Given the description of an element on the screen output the (x, y) to click on. 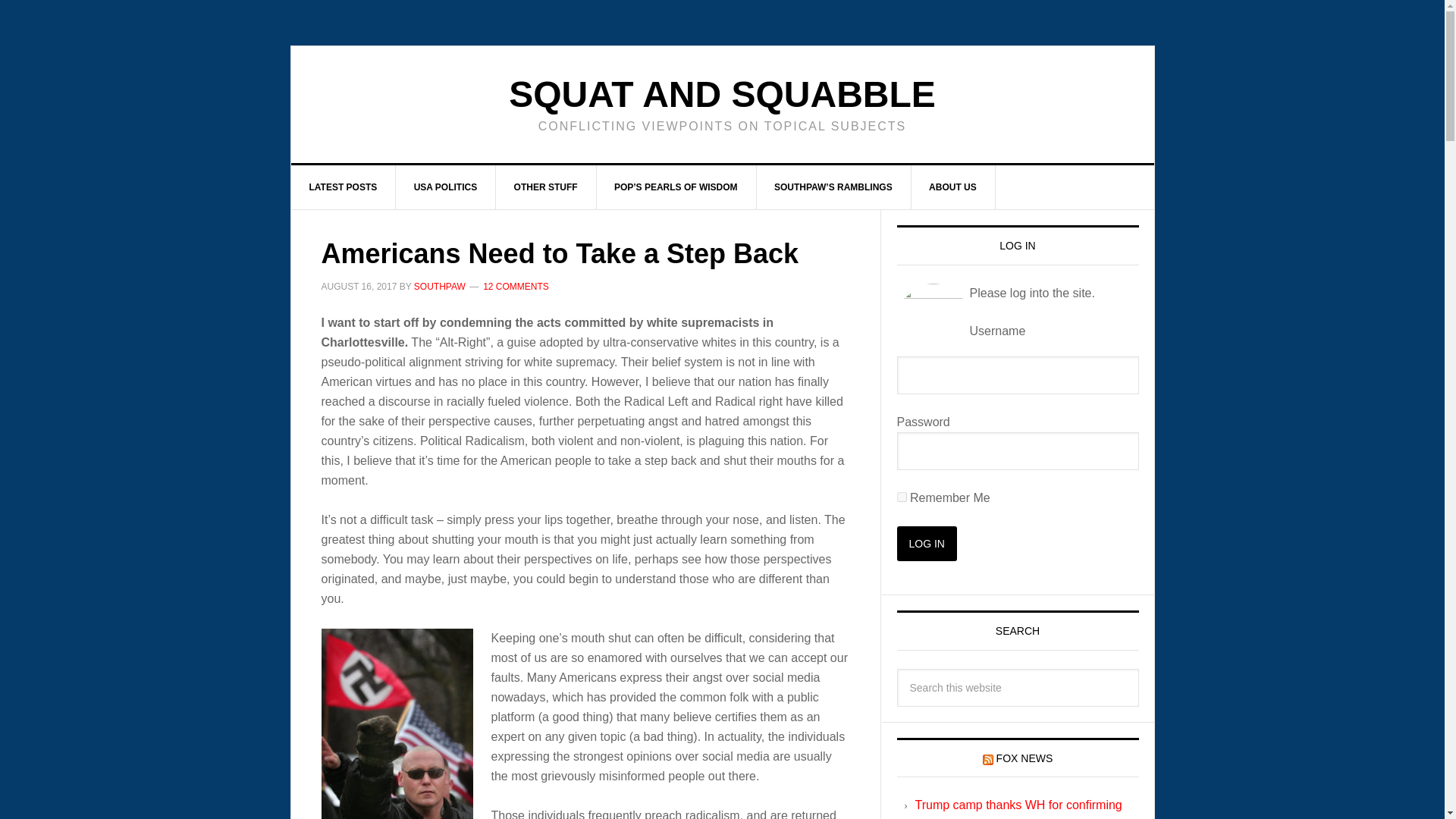
LATEST POSTS (343, 187)
OTHER STUFF (546, 187)
ABOUT US (953, 187)
Log In (926, 543)
SOUTHPAW (439, 286)
USA POLITICS (446, 187)
12 COMMENTS (515, 286)
forever (900, 497)
